Given the description of an element on the screen output the (x, y) to click on. 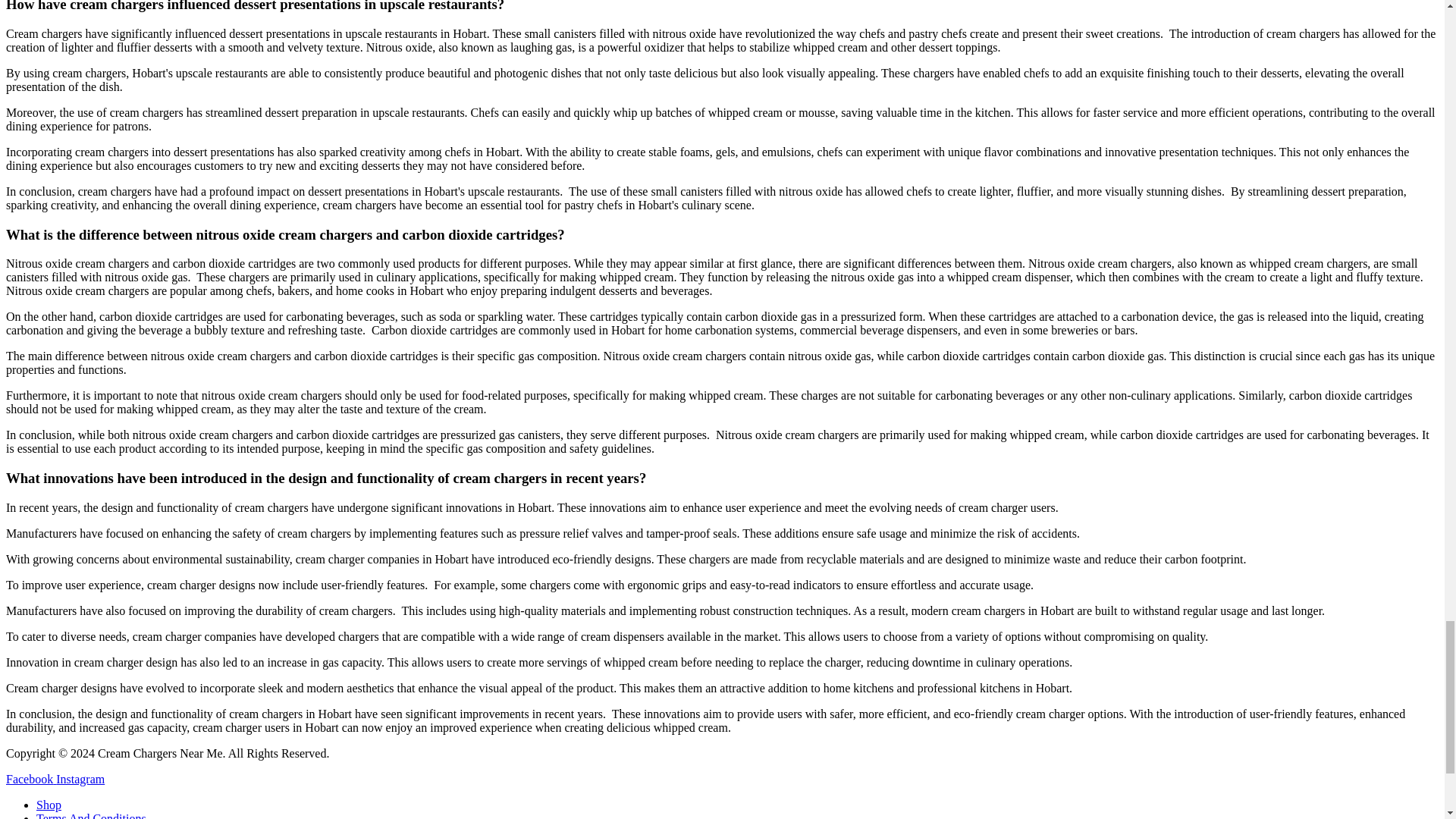
Instagram (80, 779)
Shop (48, 804)
Facebook (30, 779)
Terms And Conditions (91, 815)
